Given the description of an element on the screen output the (x, y) to click on. 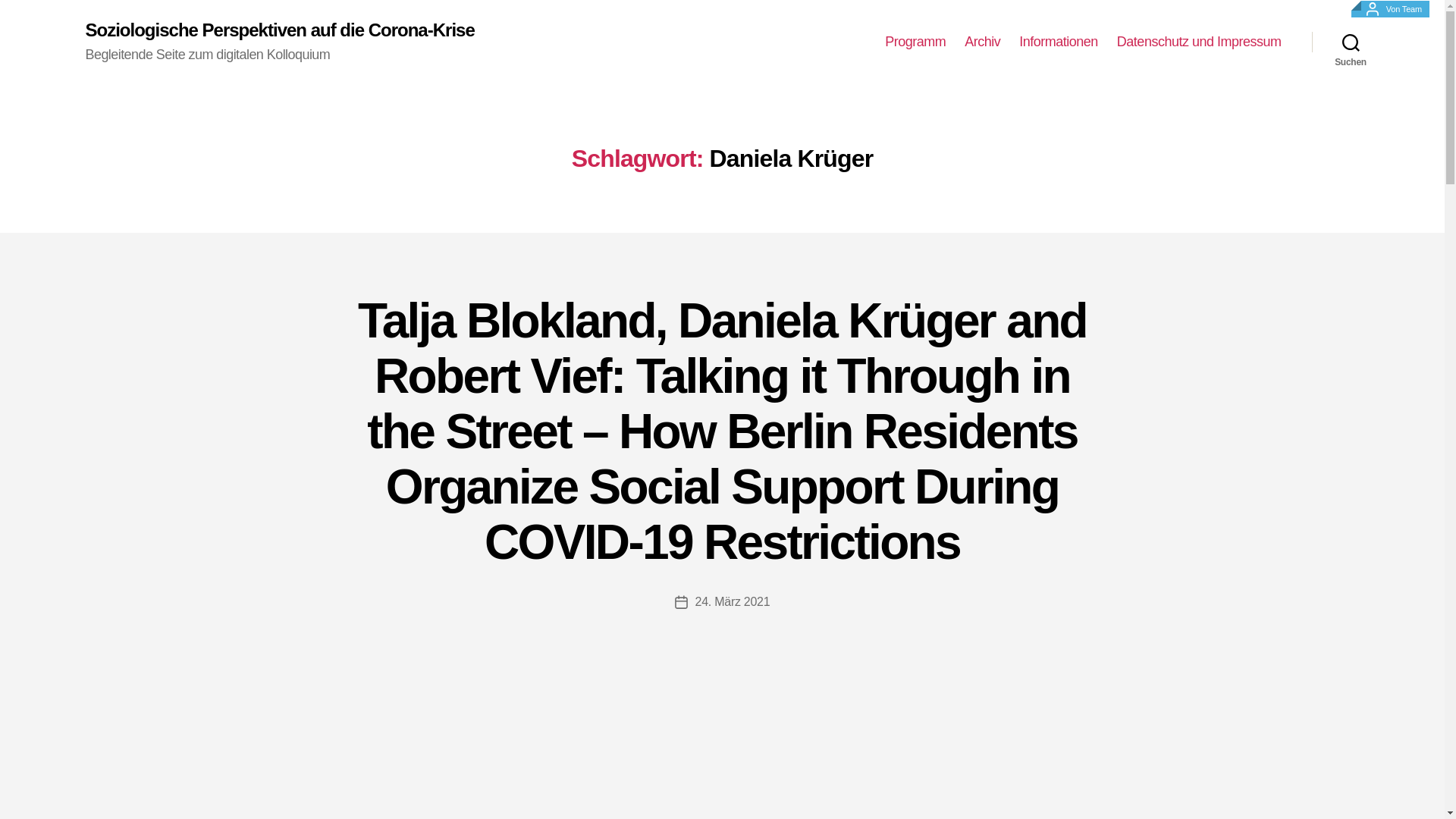
Archiv (981, 42)
Team (1412, 8)
Suchen (1350, 41)
Datenschutz und Impressum (1198, 42)
Programm (914, 42)
Informationen (1058, 42)
Soziologische Perspektiven auf die Corona-Krise (279, 30)
